Given the description of an element on the screen output the (x, y) to click on. 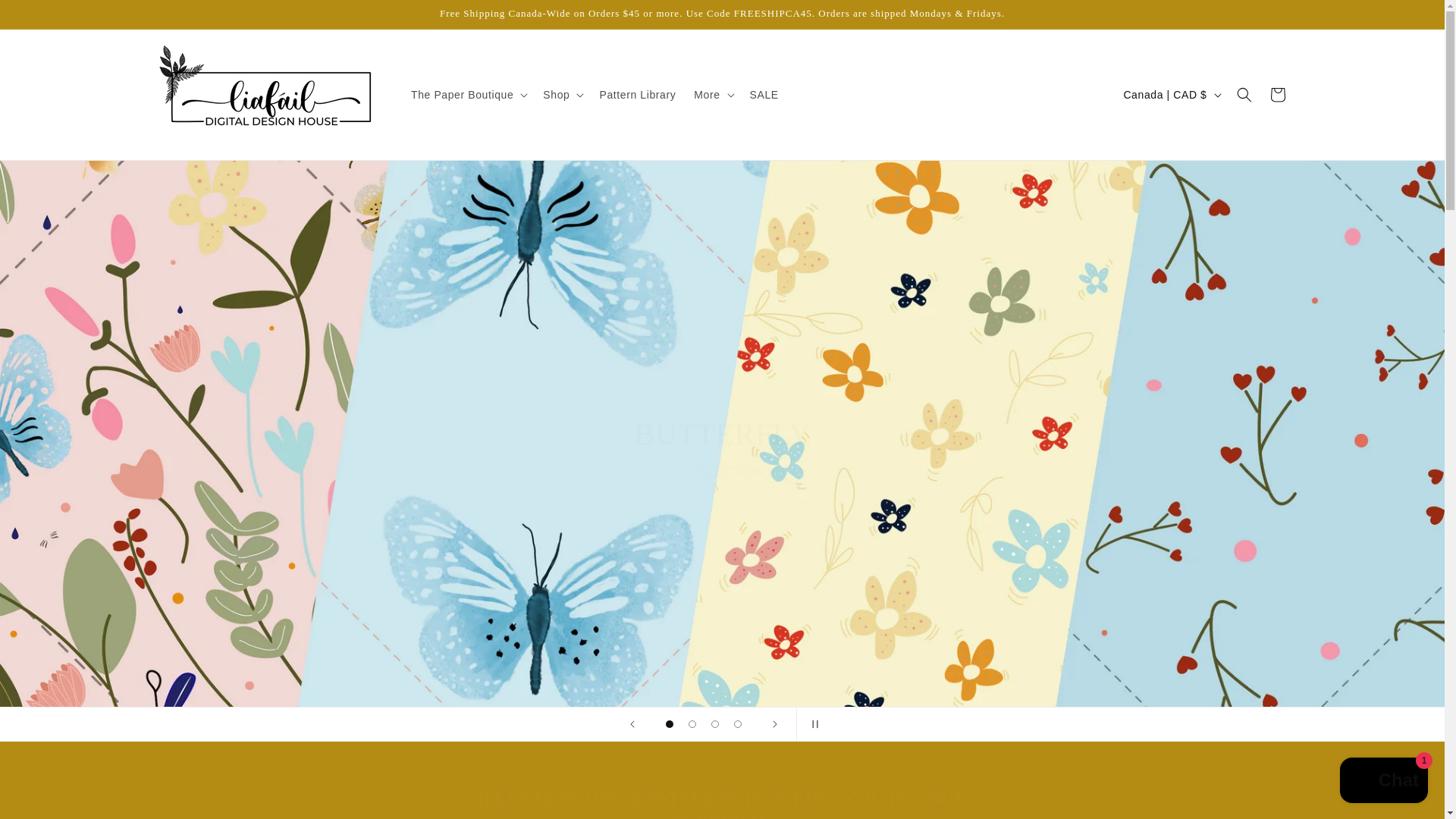
Shopify online store chat (1383, 781)
